Given the description of an element on the screen output the (x, y) to click on. 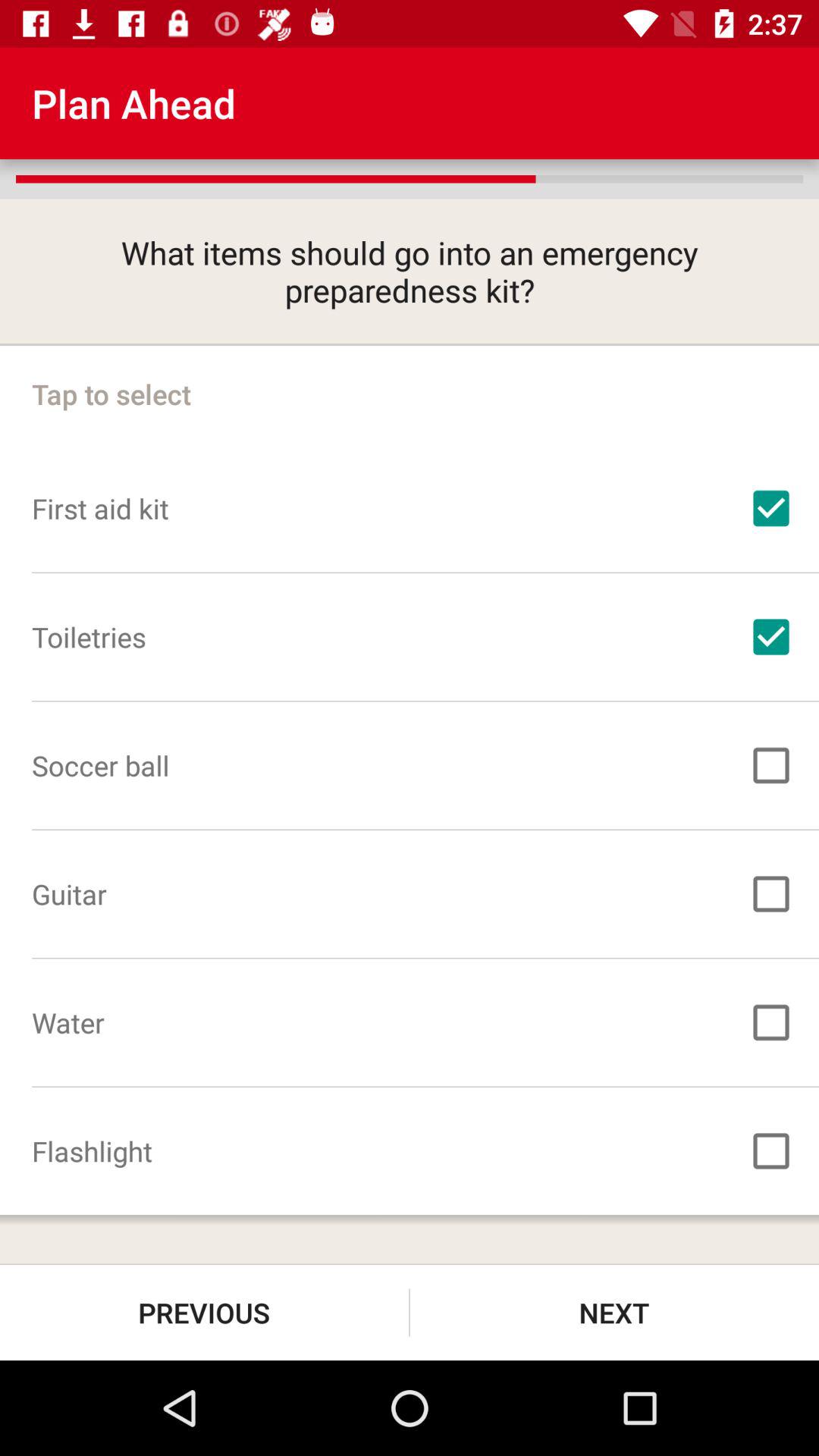
launch previous at the bottom left corner (204, 1312)
